Given the description of an element on the screen output the (x, y) to click on. 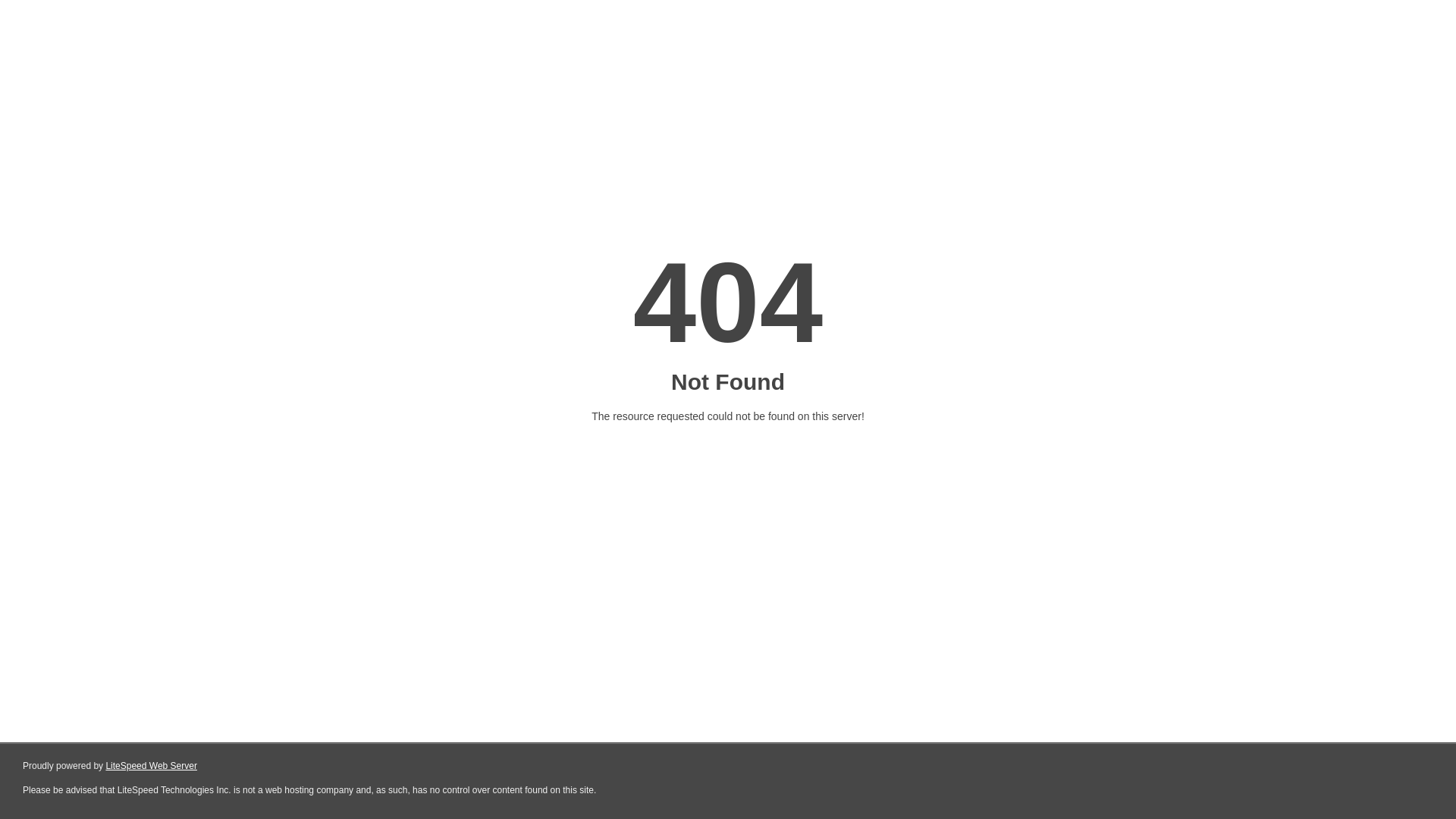
LiteSpeed Web Server Element type: text (151, 765)
